Given the description of an element on the screen output the (x, y) to click on. 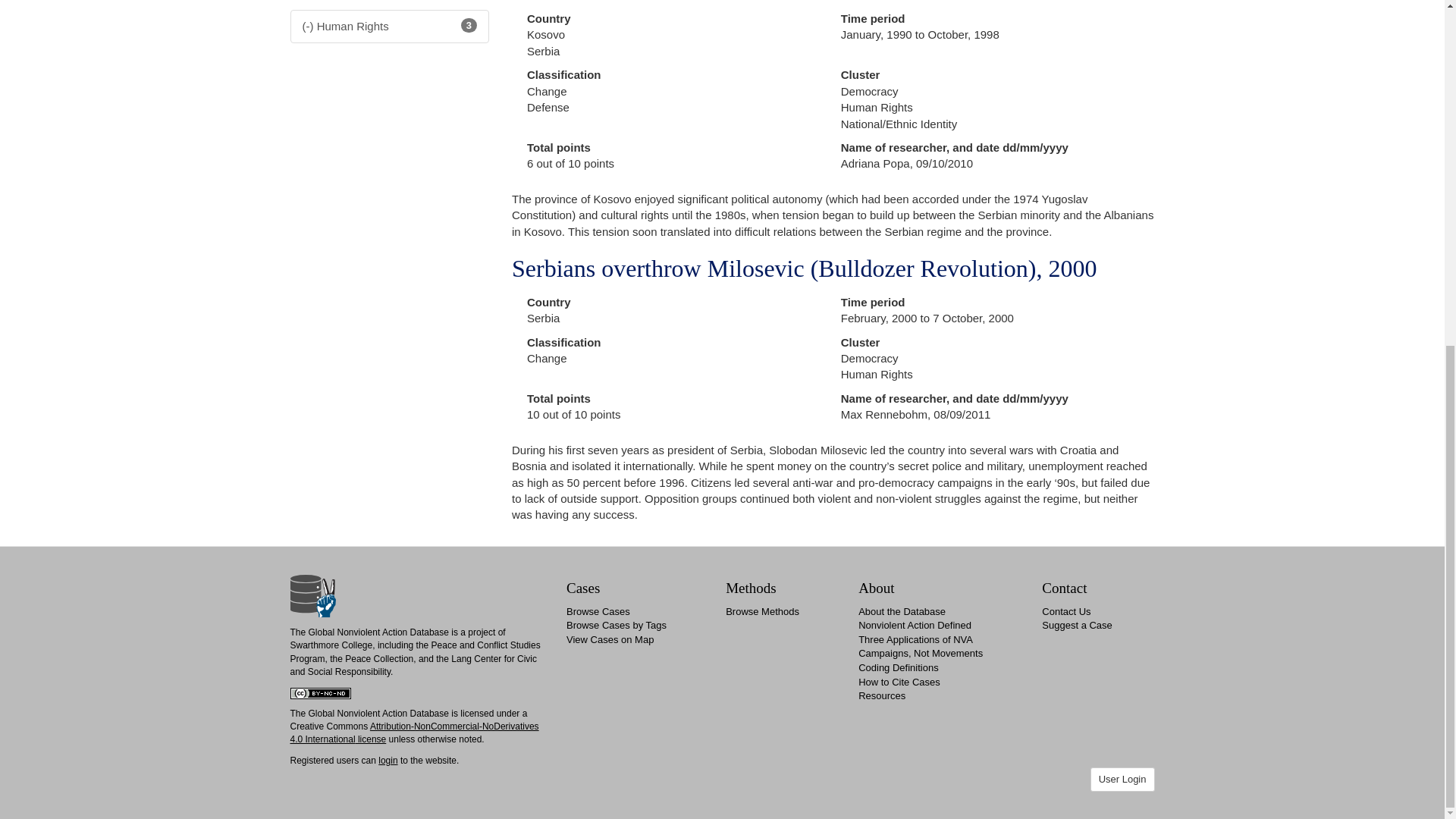
 license (371, 738)
Attribution-NonCommercial-NoDerivatives 4.0 International (413, 732)
login (387, 760)
Browse Cases (598, 611)
Home (311, 594)
